Given the description of an element on the screen output the (x, y) to click on. 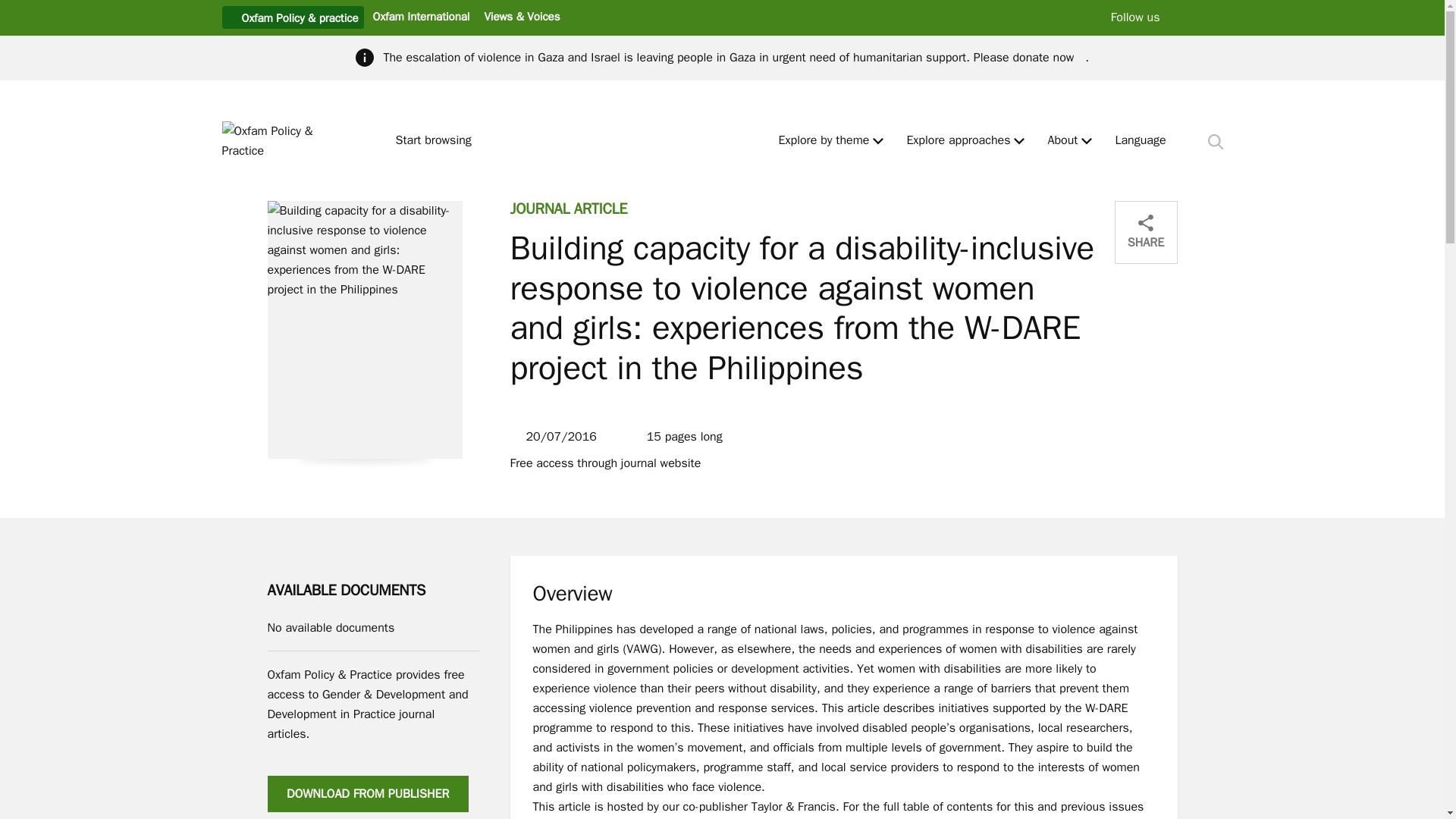
Explore approaches (957, 140)
Menu toggle (1019, 141)
Download from publisher (366, 793)
English (1140, 140)
Skip to content (11, 5)
donate now (1047, 57)
Start browsing (439, 140)
Menu toggle (877, 141)
Explore by theme (823, 140)
Twitter (1184, 17)
Facebook (1216, 17)
Search (1215, 140)
Menu toggle (1086, 141)
About (1061, 140)
Oxfam International (420, 16)
